Given the description of an element on the screen output the (x, y) to click on. 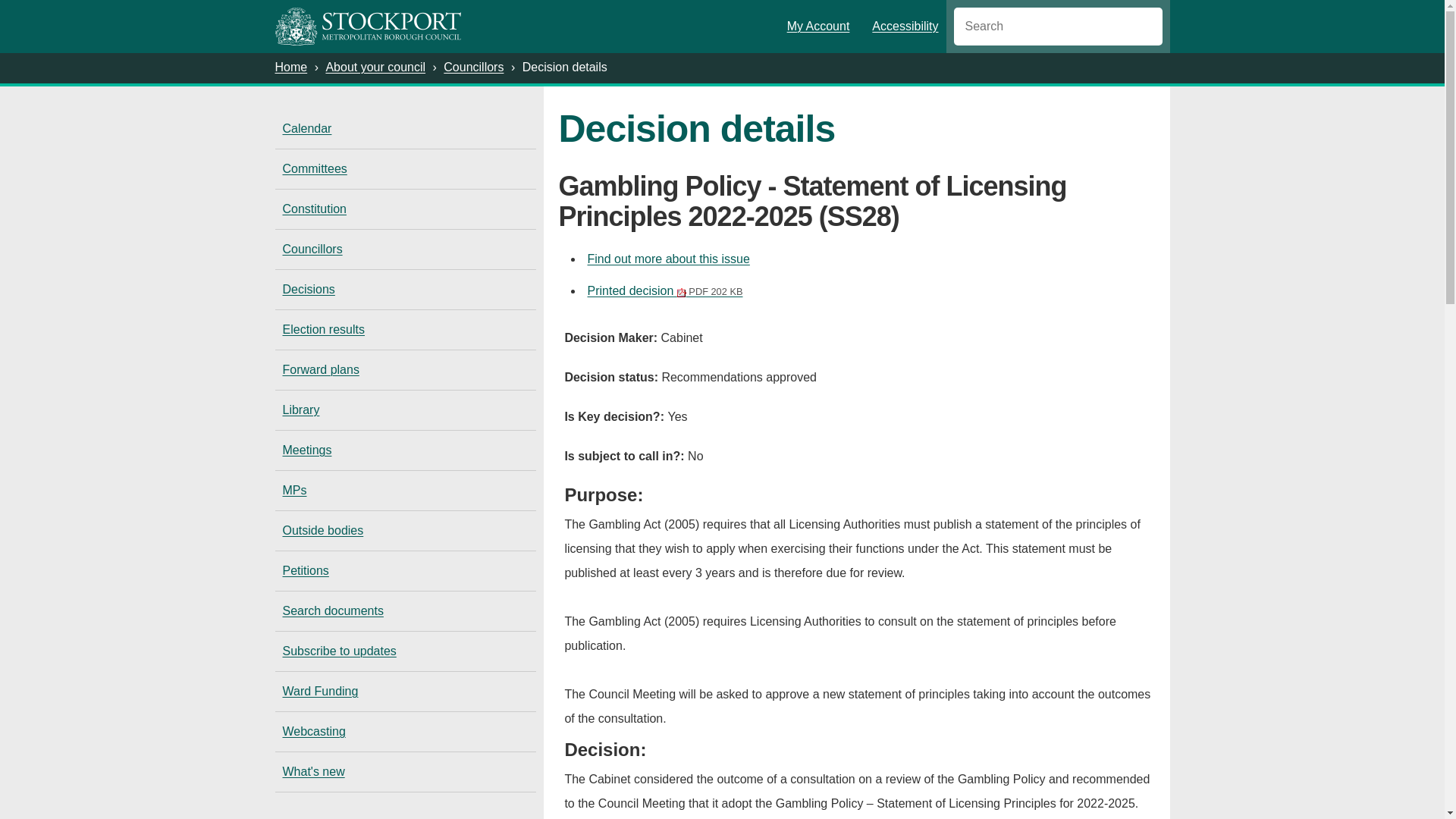
Petitions (405, 570)
Outside bodies (405, 530)
Link to Election Results (405, 329)
Library (405, 409)
Link to Outside Bodies (405, 530)
Home (291, 66)
Accessibility (900, 26)
Submit Search (1138, 23)
Link to register of decisions (405, 289)
Link to library of standard documents (405, 409)
Councillors (473, 66)
Link to Forward Plans (405, 369)
Councillors (405, 249)
Search documents (405, 610)
Find out more about this issue (667, 258)
